Given the description of an element on the screen output the (x, y) to click on. 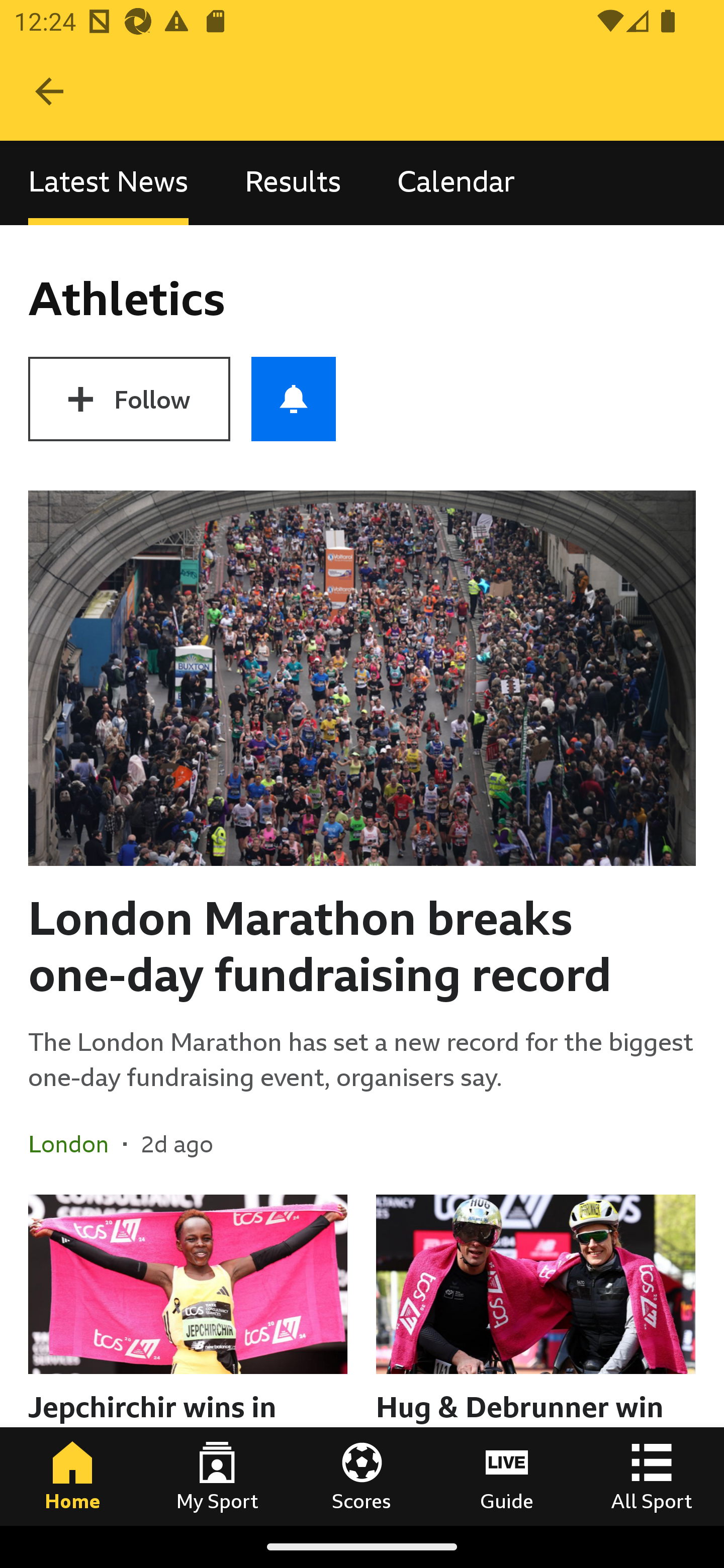
Navigate up (49, 91)
Latest News, selected Latest News (108, 183)
Results (292, 183)
Calendar (456, 183)
Follow Athletics Follow (129, 398)
Push notifications for Athletics (293, 398)
London In the section London (75, 1143)
My Sport (216, 1475)
Scores (361, 1475)
Guide (506, 1475)
All Sport (651, 1475)
